Given the description of an element on the screen output the (x, y) to click on. 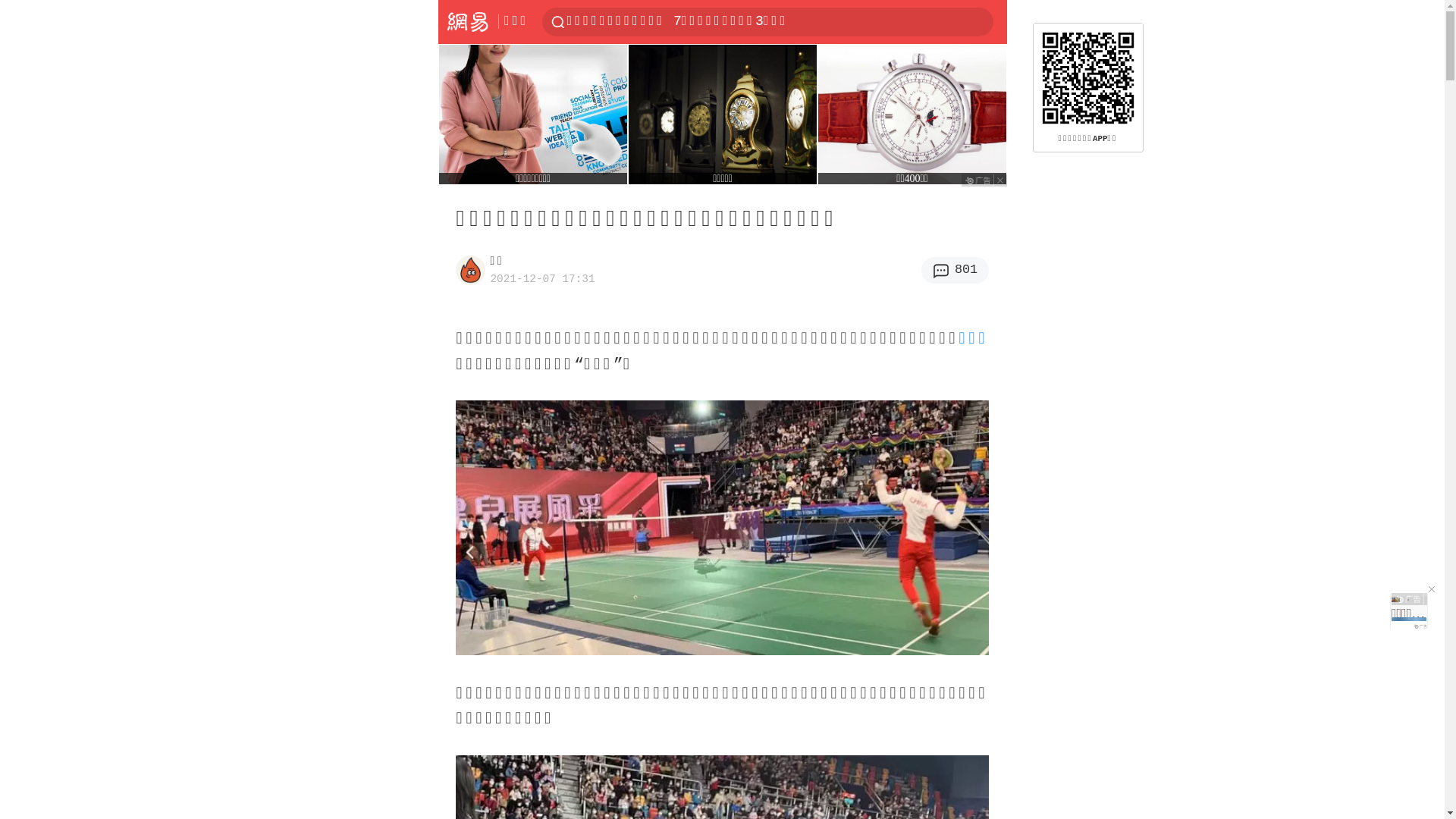
801 Element type: text (954, 270)
